Given the description of an element on the screen output the (x, y) to click on. 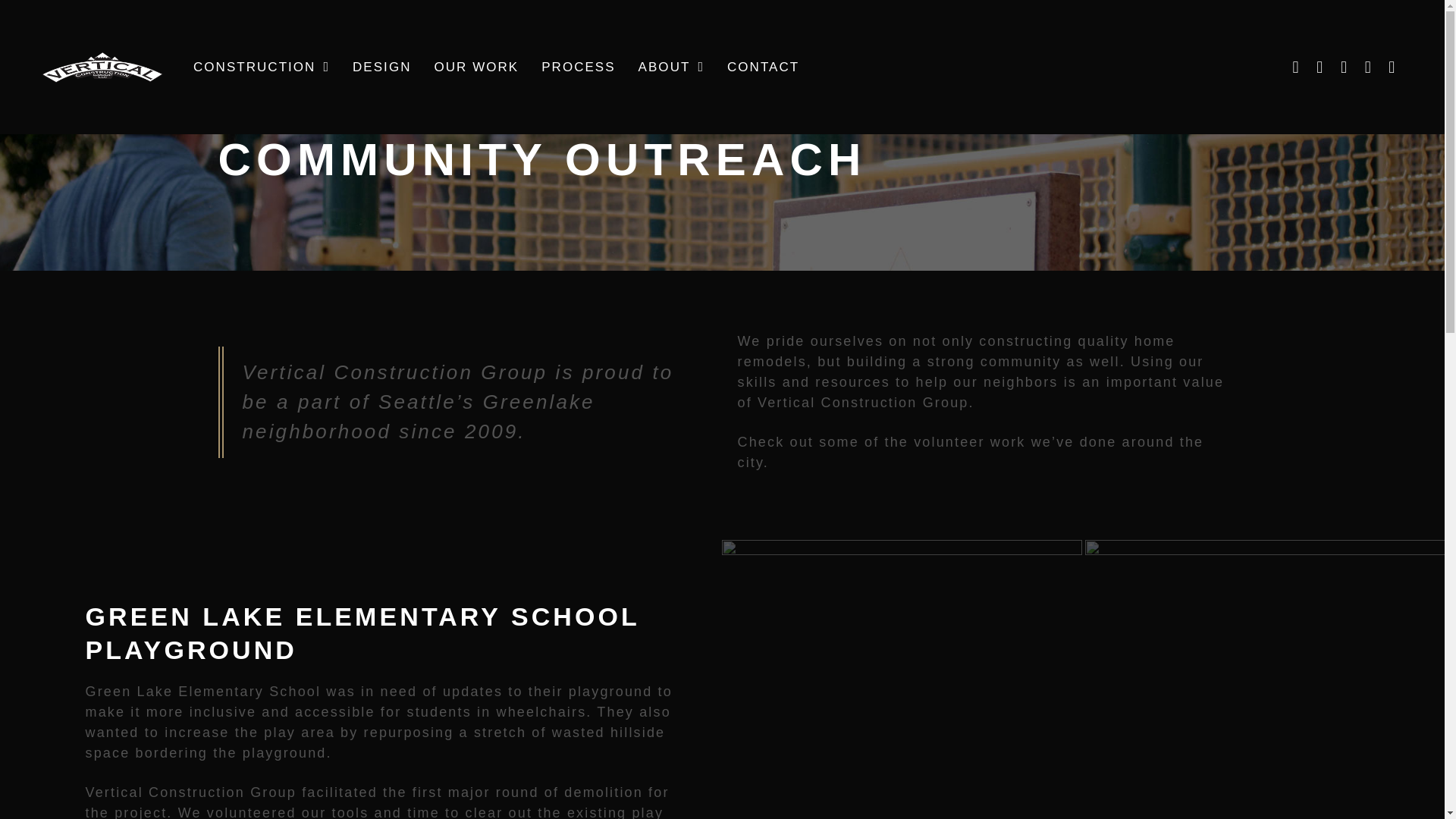
ABOUT (671, 66)
CONSTRUCTION (261, 66)
DESIGN (381, 66)
OUR WORK (475, 66)
CONTACT (762, 66)
PROCESS (577, 66)
Vertical Construction Group (102, 66)
